Given the description of an element on the screen output the (x, y) to click on. 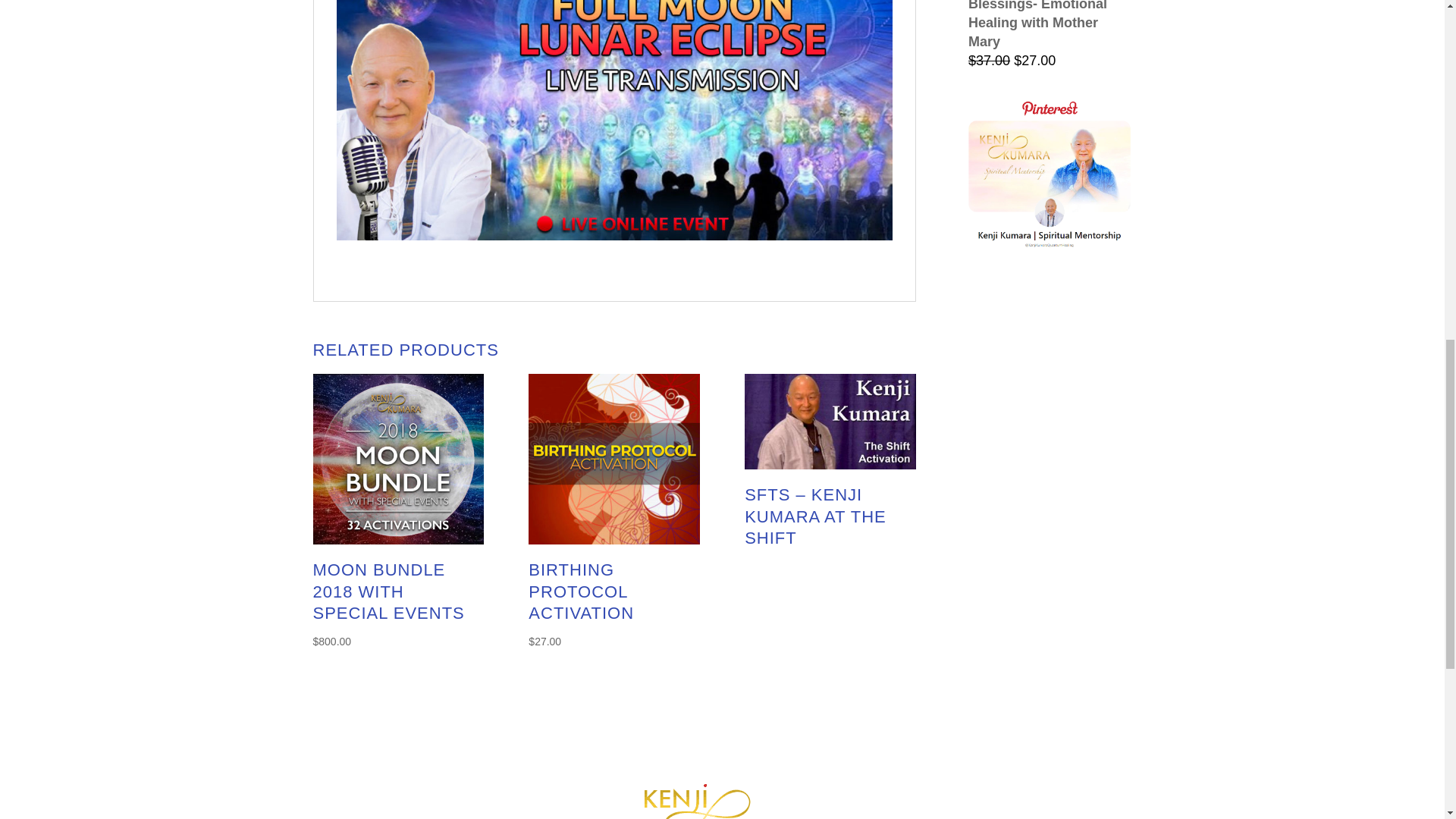
kenji-kumara-newlogo2 (722, 801)
